Given the description of an element on the screen output the (x, y) to click on. 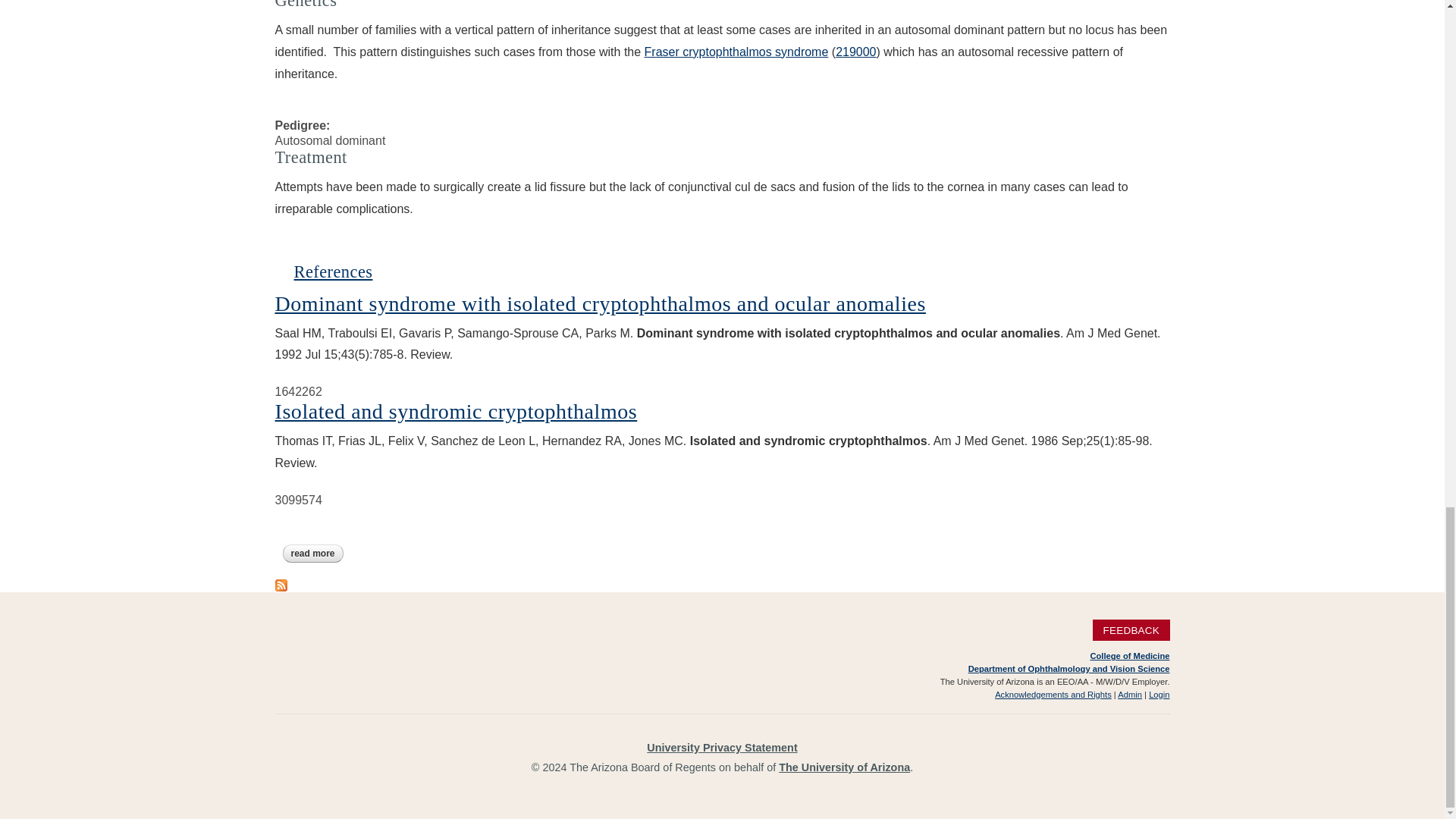
Subscribe to RSS - ankyloblepharon (280, 583)
University Privacy Statement (721, 747)
Acknowledgements and Rights (1053, 694)
College of Medicine (1129, 655)
Department of Ophthalmology and Vision Science (1069, 668)
Login (1158, 694)
FEEDBACK (1131, 629)
Isolated and syndromic cryptophthalmos (333, 271)
